Given the description of an element on the screen output the (x, y) to click on. 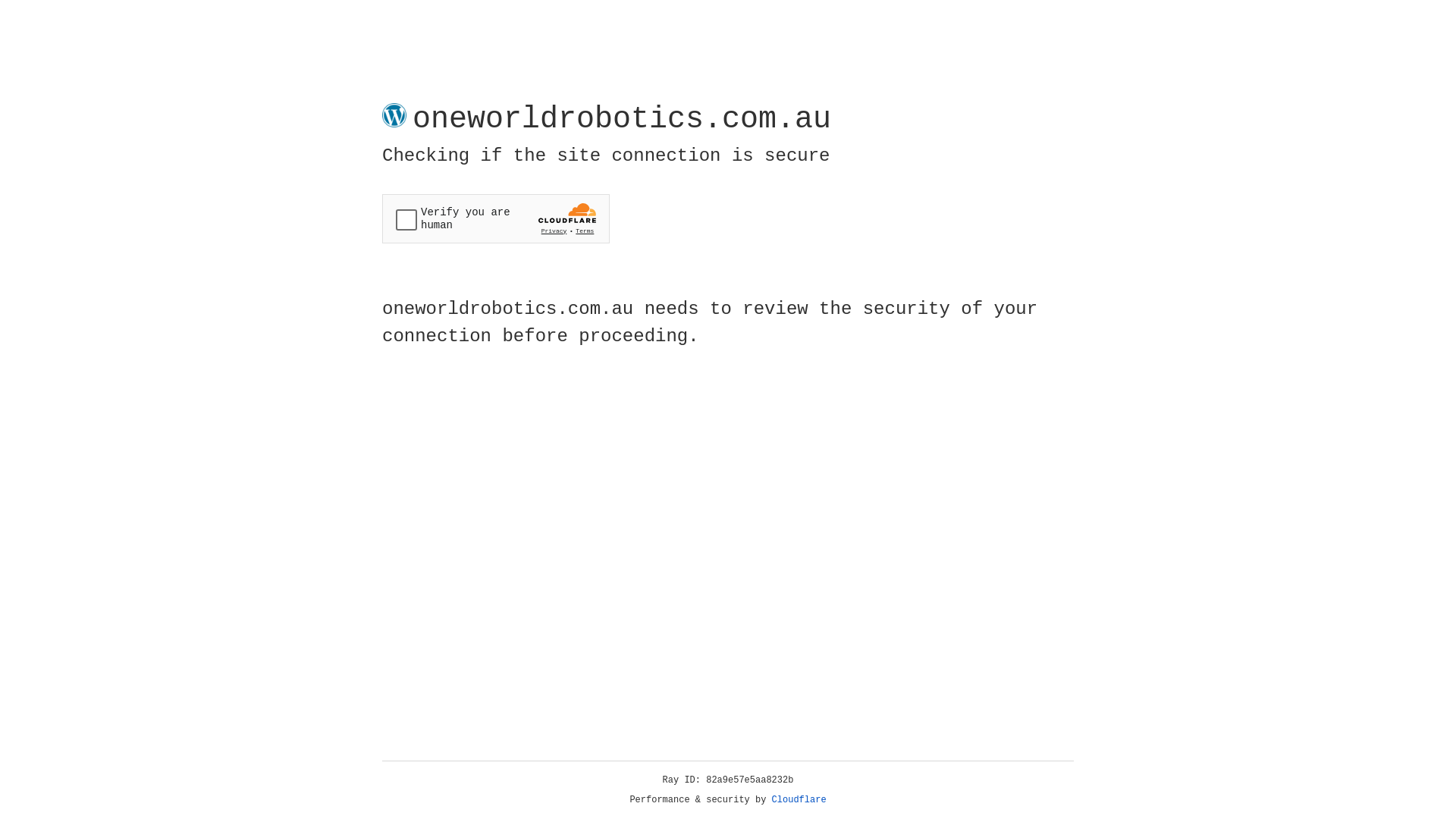
Cloudflare Element type: text (798, 799)
Widget containing a Cloudflare security challenge Element type: hover (495, 218)
